Given the description of an element on the screen output the (x, y) to click on. 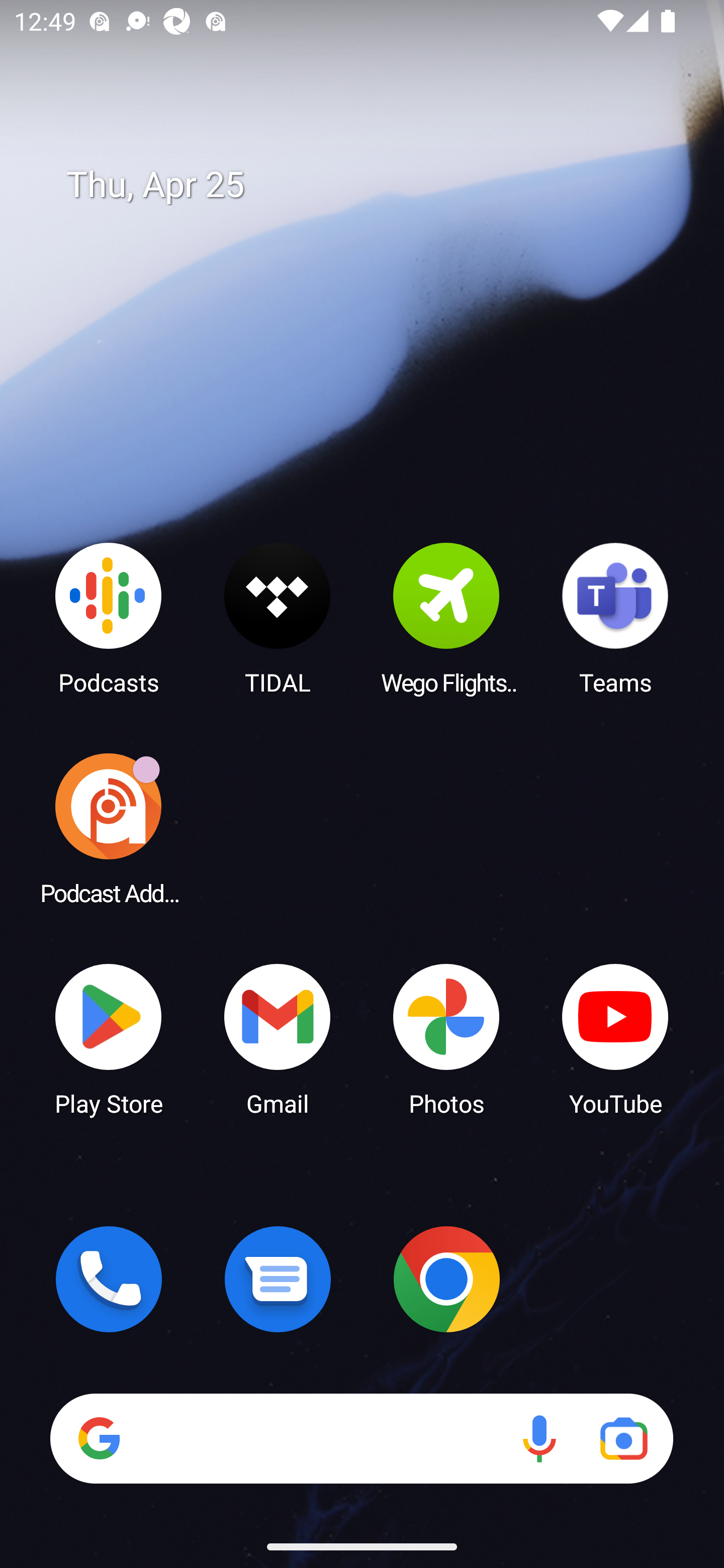
Thu, Apr 25 (375, 184)
Podcasts (108, 617)
TIDAL (277, 617)
Wego Flights & Hotels (445, 617)
Teams (615, 617)
Play Store (108, 1038)
Gmail (277, 1038)
Photos (445, 1038)
YouTube (615, 1038)
Phone (108, 1279)
Messages (277, 1279)
Chrome (446, 1279)
Search Voice search Google Lens (361, 1438)
Voice search (539, 1438)
Google Lens (623, 1438)
